Given the description of an element on the screen output the (x, y) to click on. 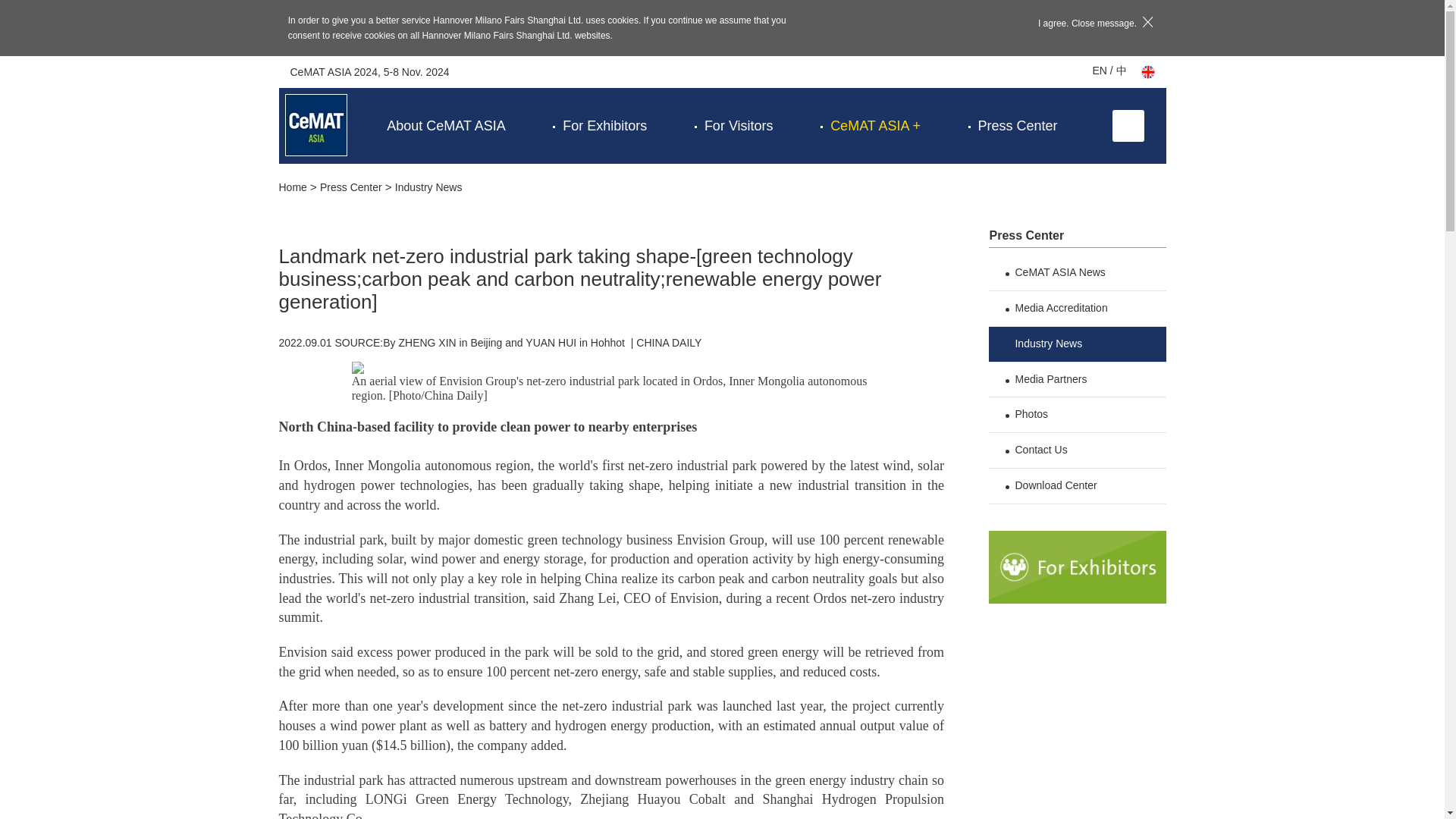
EN (1099, 70)
About CeMAT ASIA (446, 125)
CeMAT ASIA 2024, 5-8 Nov. 2024 (368, 71)
For Visitors (738, 125)
For Exhibitors (604, 125)
